Given the description of an element on the screen output the (x, y) to click on. 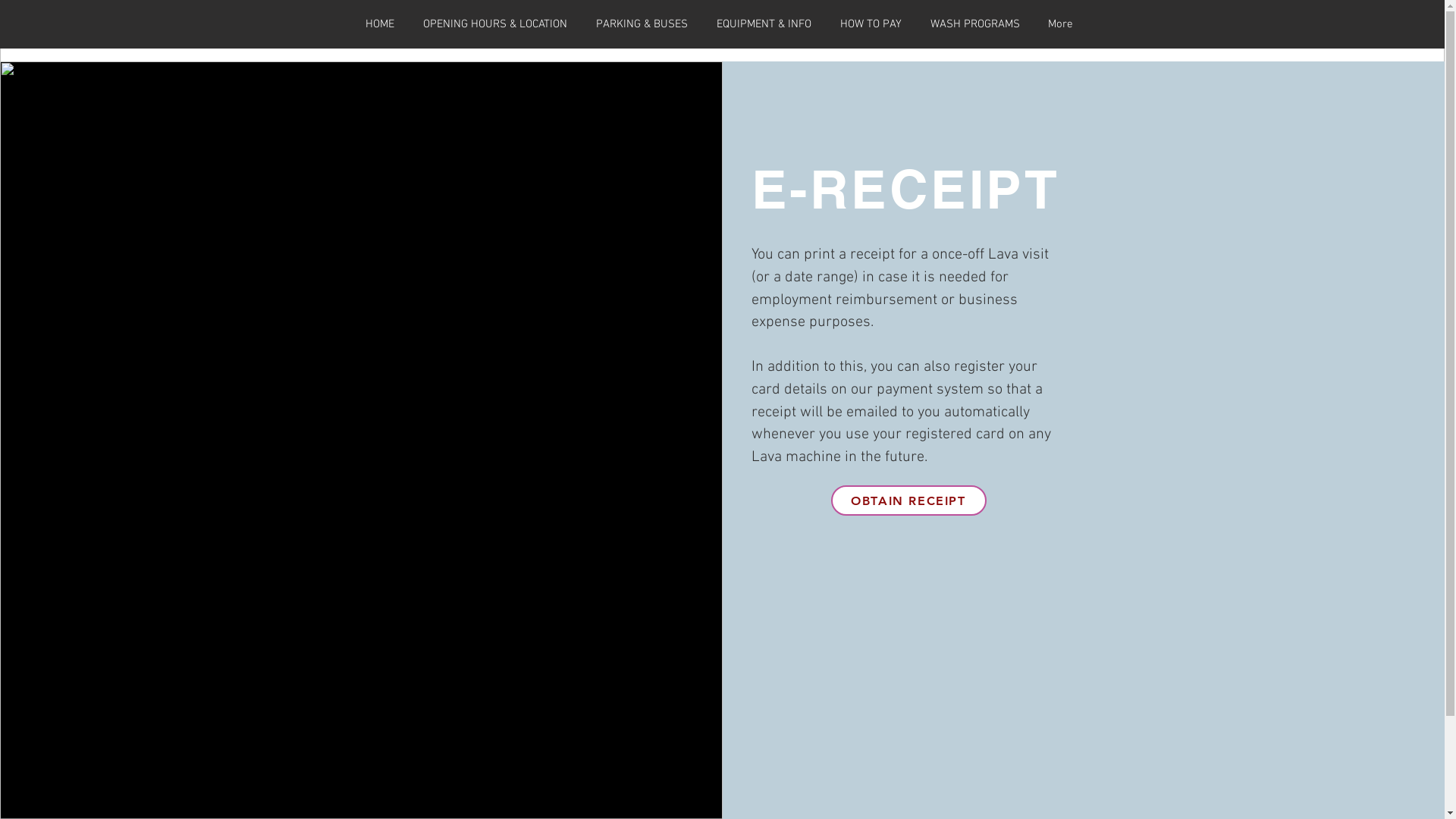
PARKING & BUSES Element type: text (640, 24)
OPENING HOURS & LOCATION Element type: text (493, 24)
HOW TO PAY Element type: text (870, 24)
EQUIPMENT & INFO Element type: text (763, 24)
WASH PROGRAMS Element type: text (975, 24)
HOME Element type: text (378, 24)
OBTAIN RECEIPT Element type: text (908, 500)
